Given the description of an element on the screen output the (x, y) to click on. 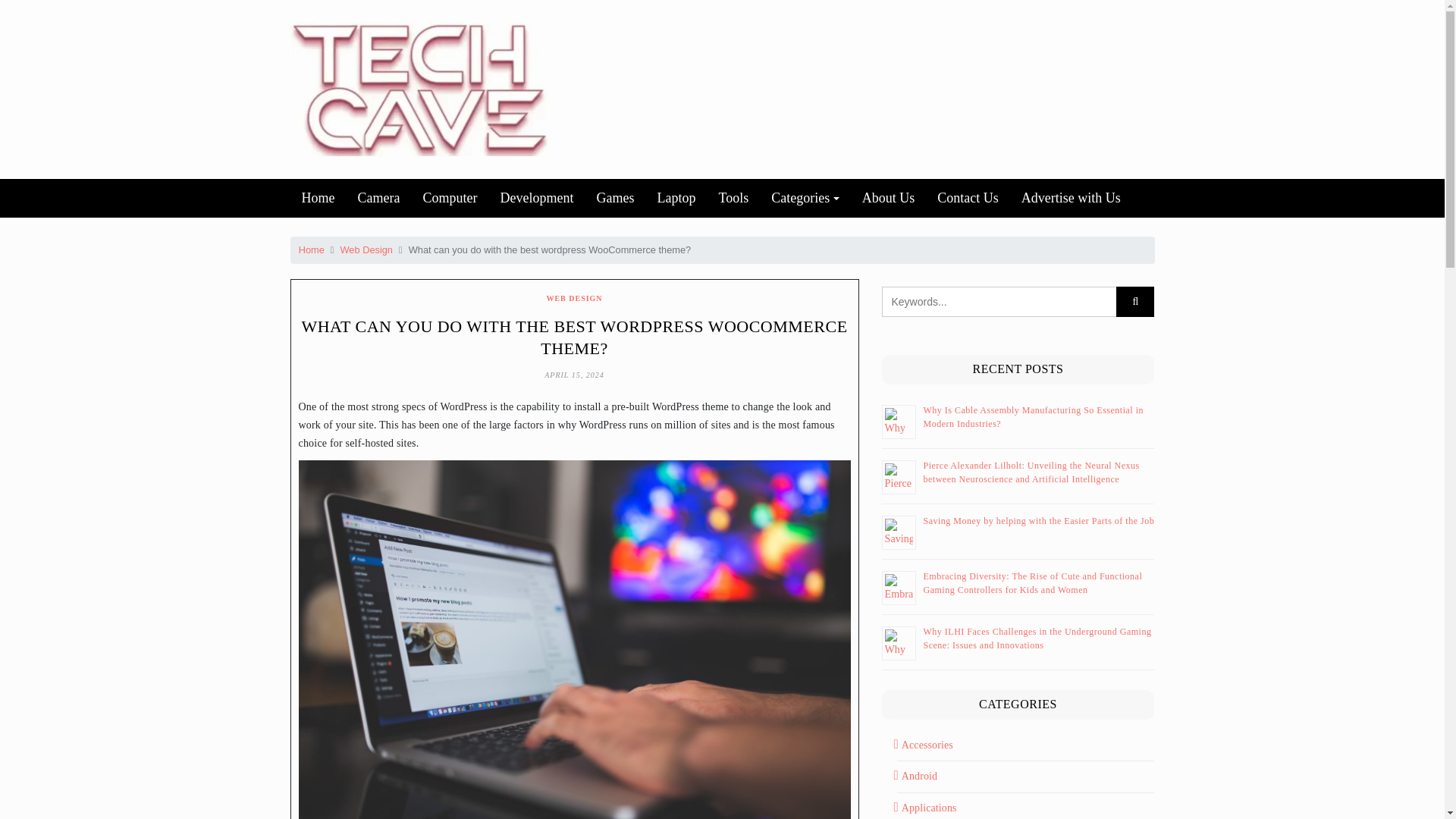
Web Design (366, 249)
Advertise with Us (1071, 198)
Camera (378, 198)
Computer (448, 198)
Tools (733, 198)
About Us (888, 198)
WEB DESIGN (574, 297)
Development (536, 198)
Home (317, 198)
Contact Us (968, 198)
Home (311, 249)
Laptop (675, 198)
Categories (805, 198)
Games (615, 198)
